Given the description of an element on the screen output the (x, y) to click on. 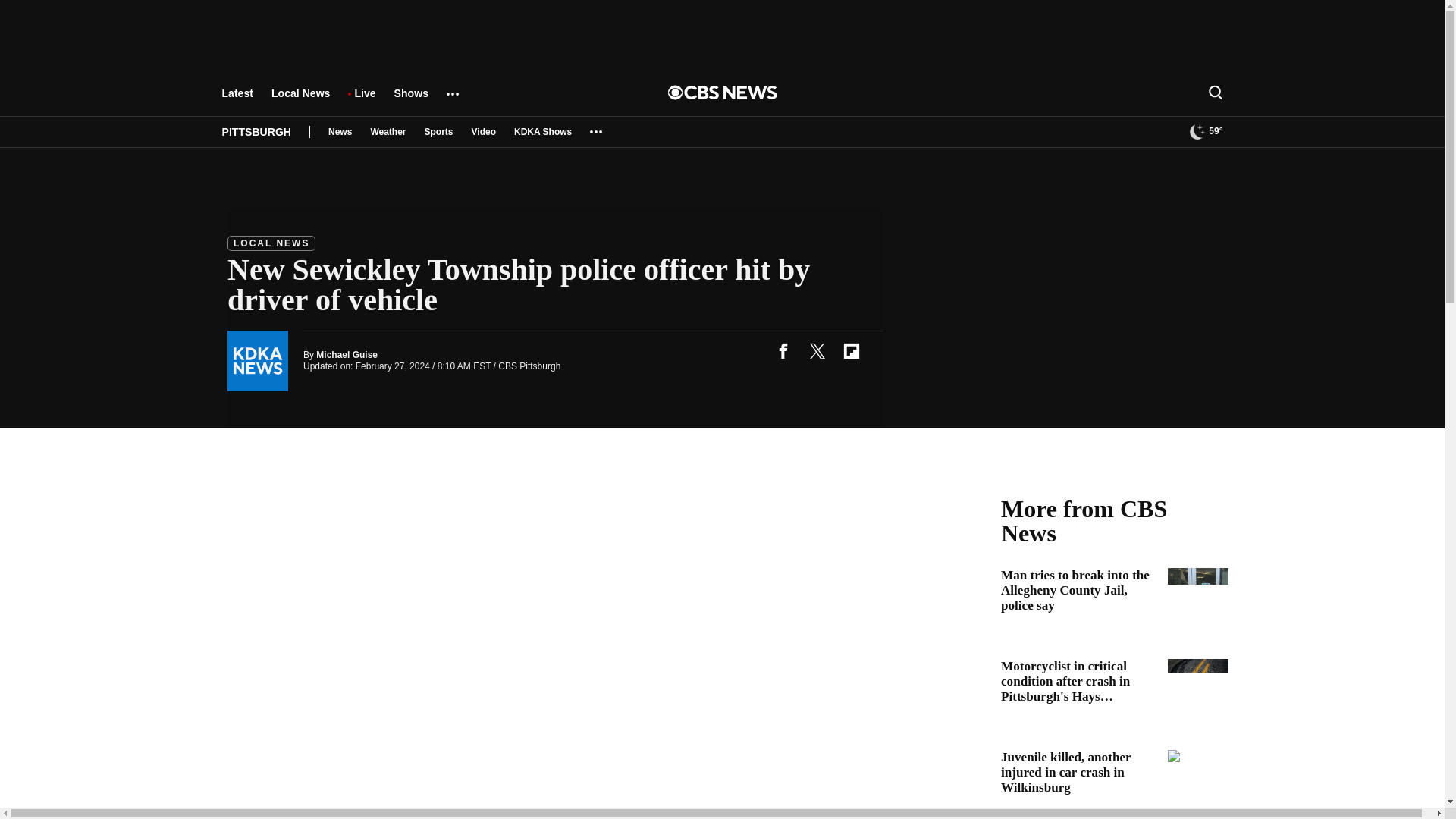
Local News (300, 100)
twitter (816, 350)
facebook (782, 350)
Latest (236, 100)
flipboard (850, 350)
